Given the description of an element on the screen output the (x, y) to click on. 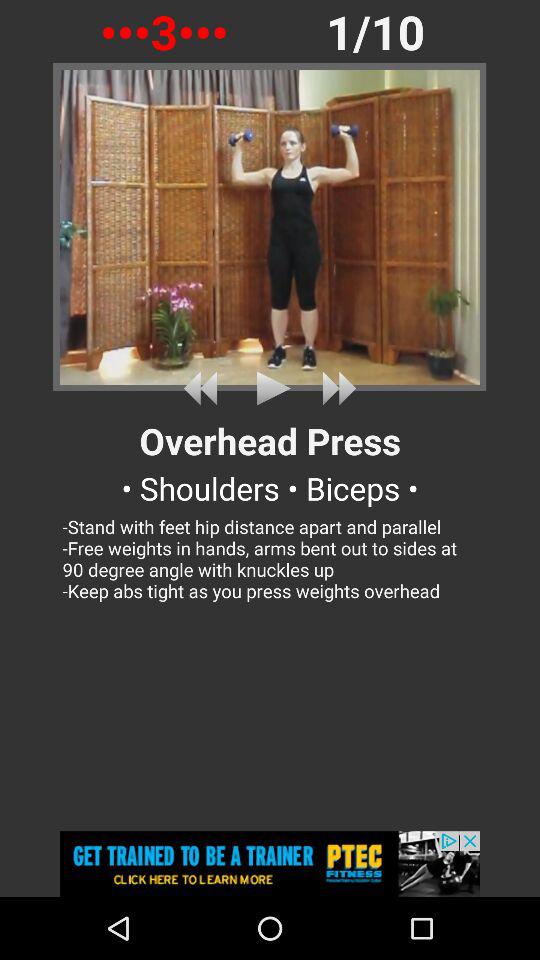
forward (335, 388)
